Given the description of an element on the screen output the (x, y) to click on. 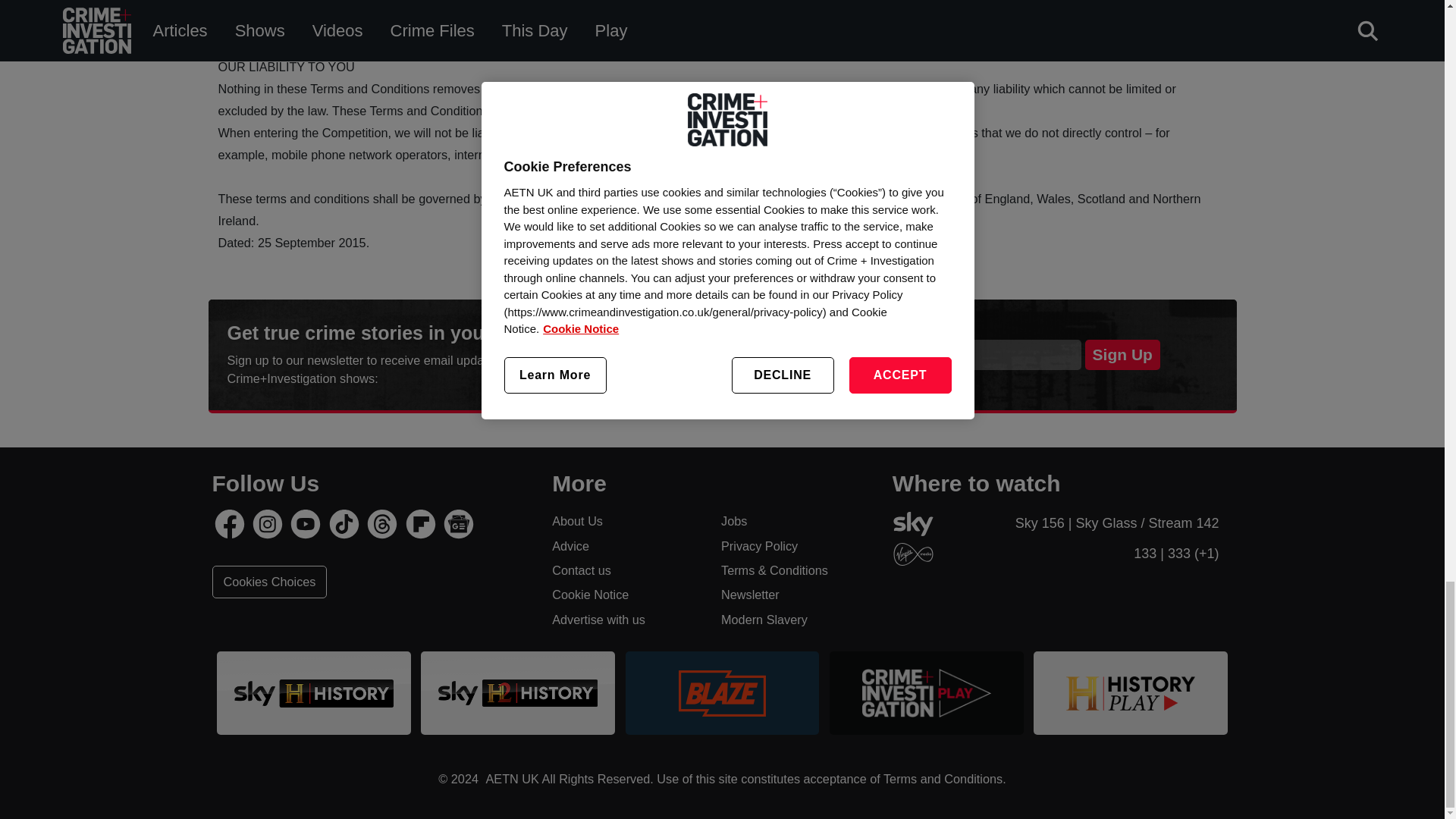
Jobs (795, 520)
About Us (626, 520)
Advice (626, 545)
Contact us (626, 569)
Terms and Conditions (943, 778)
Advertise with us (626, 619)
AETN UK (509, 778)
Privacy Policy (795, 545)
Sign Up (1122, 354)
Newsletter (795, 594)
Modern Slavery (795, 619)
Sign Up (1122, 354)
Cookie Notice (626, 594)
Cookies Choices (269, 581)
